Given the description of an element on the screen output the (x, y) to click on. 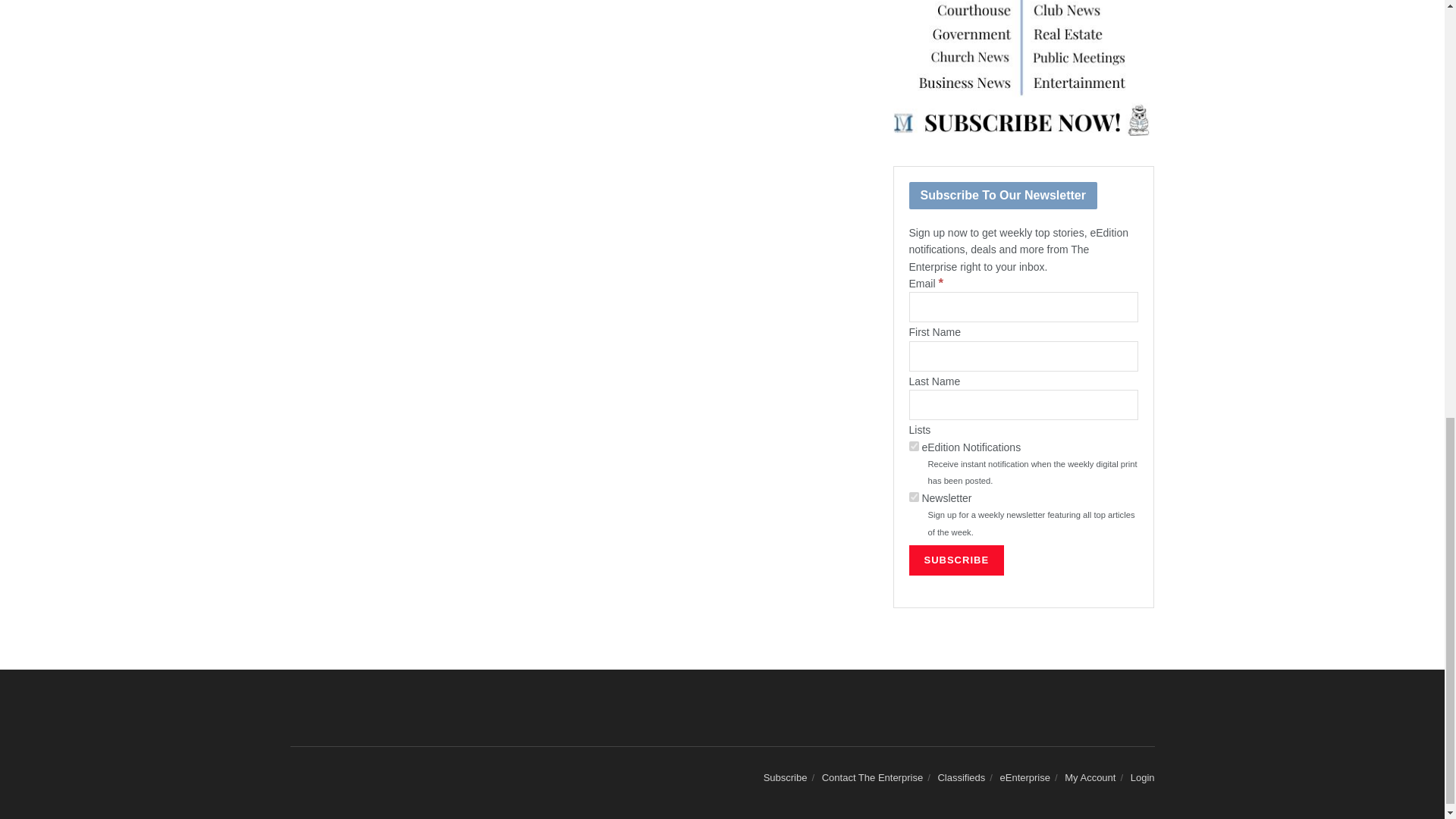
3 (913, 497)
2 (913, 446)
Subscribe (956, 560)
